Given the description of an element on the screen output the (x, y) to click on. 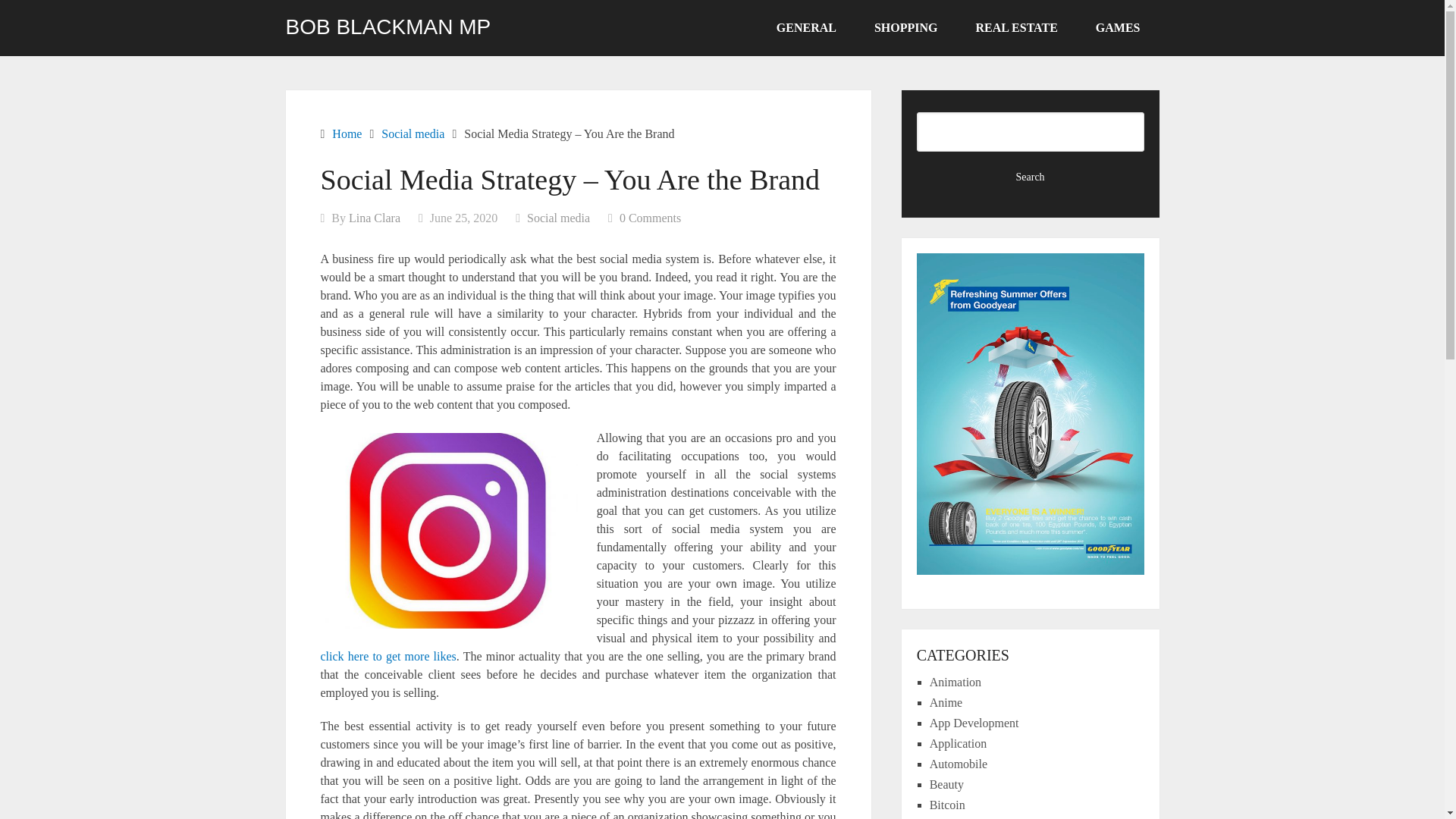
click here to get more likes (387, 656)
Social media (412, 133)
App Development (974, 722)
Home (346, 133)
GENERAL (806, 28)
Beauty (946, 784)
Application (958, 743)
Bitcoin (947, 804)
REAL ESTATE (1015, 28)
Posts by Lina Clara (374, 217)
Automobile (958, 763)
Search (1030, 176)
Animation (955, 681)
BOB BLACKMAN MP (387, 26)
Anime (946, 702)
